Given the description of an element on the screen output the (x, y) to click on. 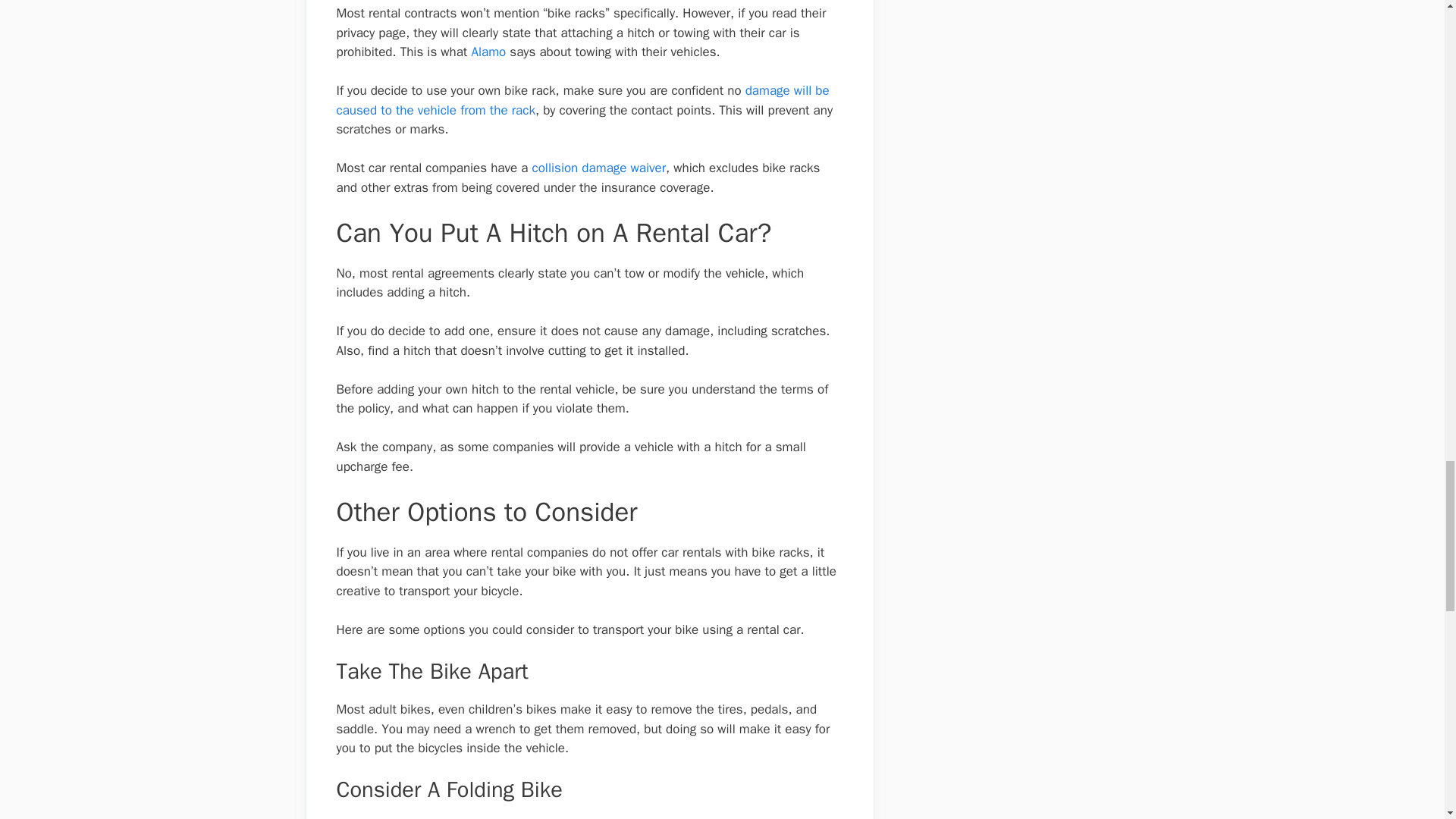
collision damage waiver (599, 167)
Alamo (487, 51)
damage will be caused to the vehicle from the rack (582, 99)
